Given the description of an element on the screen output the (x, y) to click on. 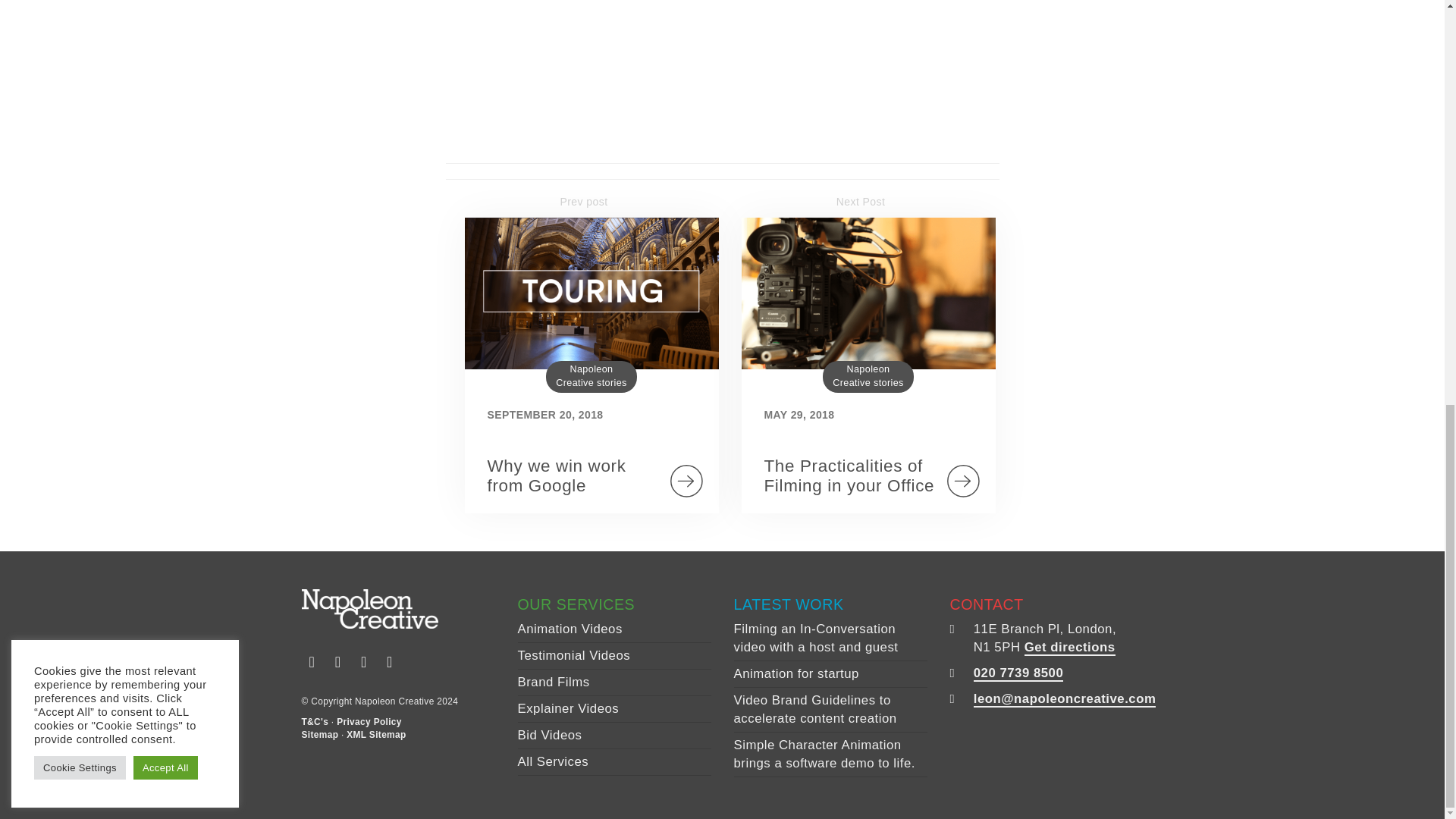
Testimonial Videos (573, 655)
The Practicalities of Filming in your Office (849, 475)
Video Brand Guidelines to accelerate content creation (814, 708)
Explainer Videos (567, 708)
Animation Videos (568, 628)
Bid Videos (548, 735)
Saleforce Animation at the London show (635, 67)
Animation for startup (796, 673)
Filming an In-Conversation video with a host and guest (815, 637)
Services (552, 761)
Simple Character Animation brings a software demo to life. (824, 753)
Why we win work from Google (556, 475)
Brand Films (552, 681)
